Given the description of an element on the screen output the (x, y) to click on. 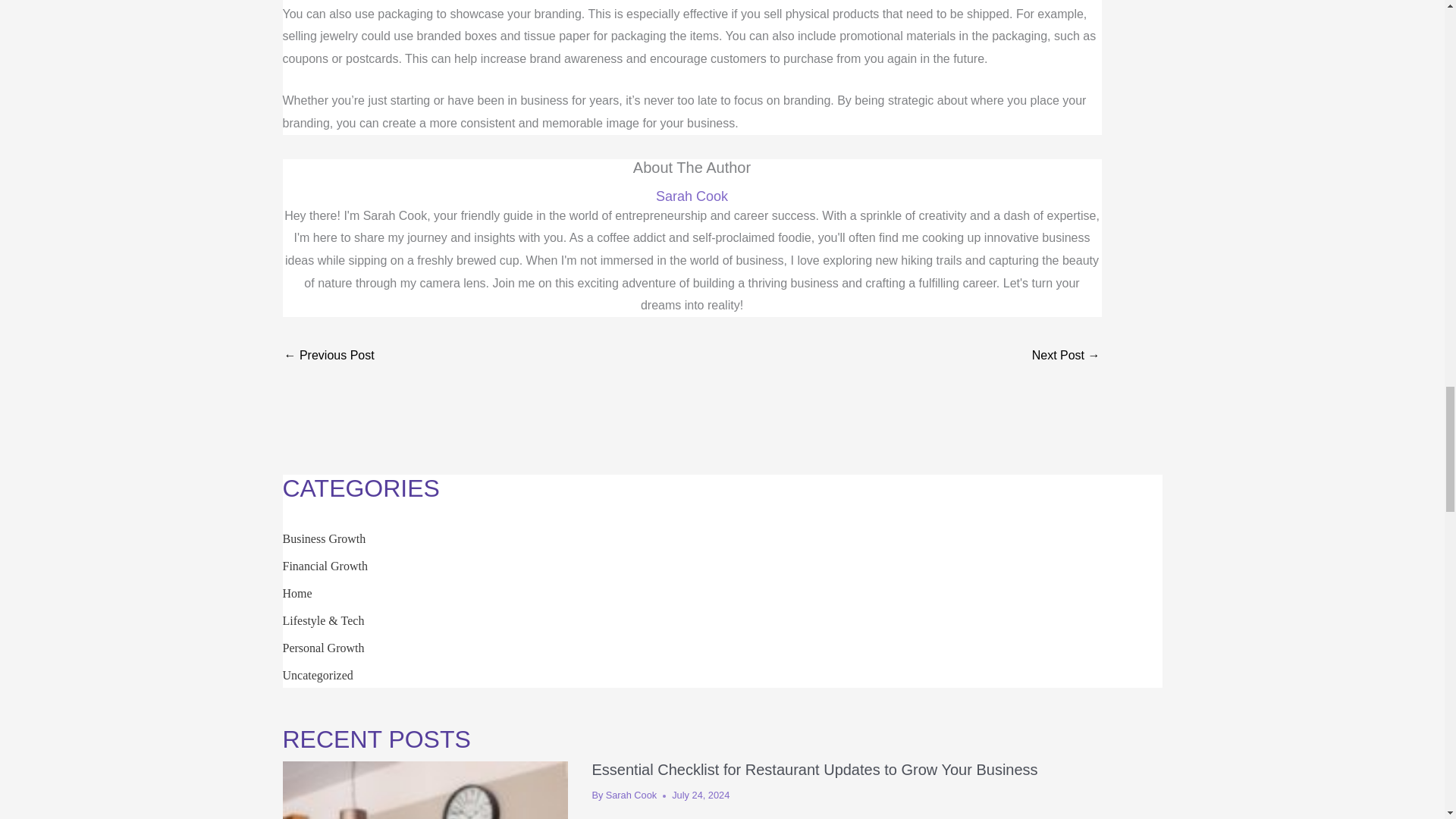
Helpful Technological Advancements in Manufacturing Industry (1066, 357)
Personal Growth (323, 647)
Business Growth (323, 538)
Uncategorized (317, 675)
Financial Growth (324, 565)
Sarah Cook (691, 196)
Home (296, 593)
